Given the description of an element on the screen output the (x, y) to click on. 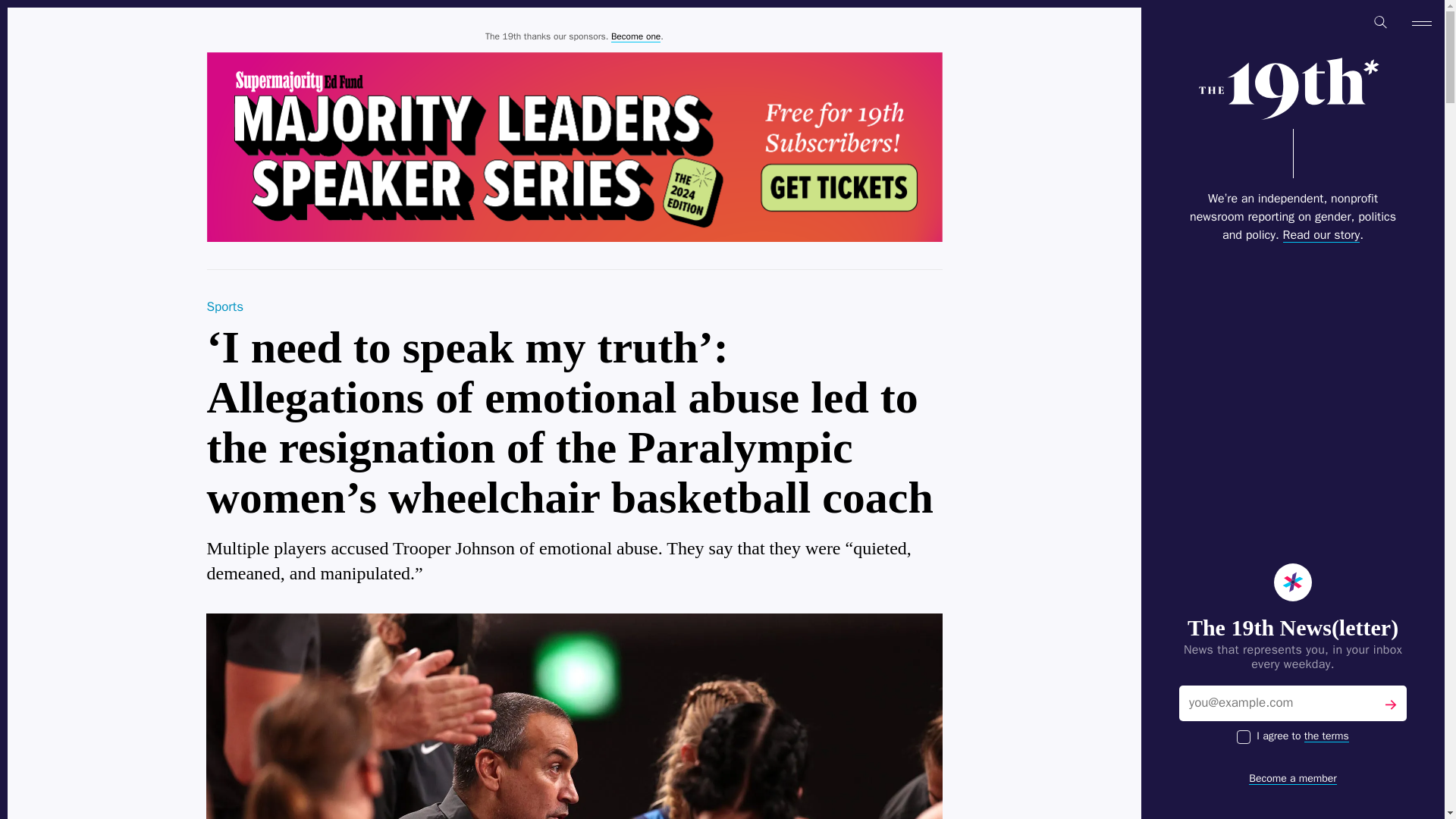
on (1243, 736)
